Given the description of an element on the screen output the (x, y) to click on. 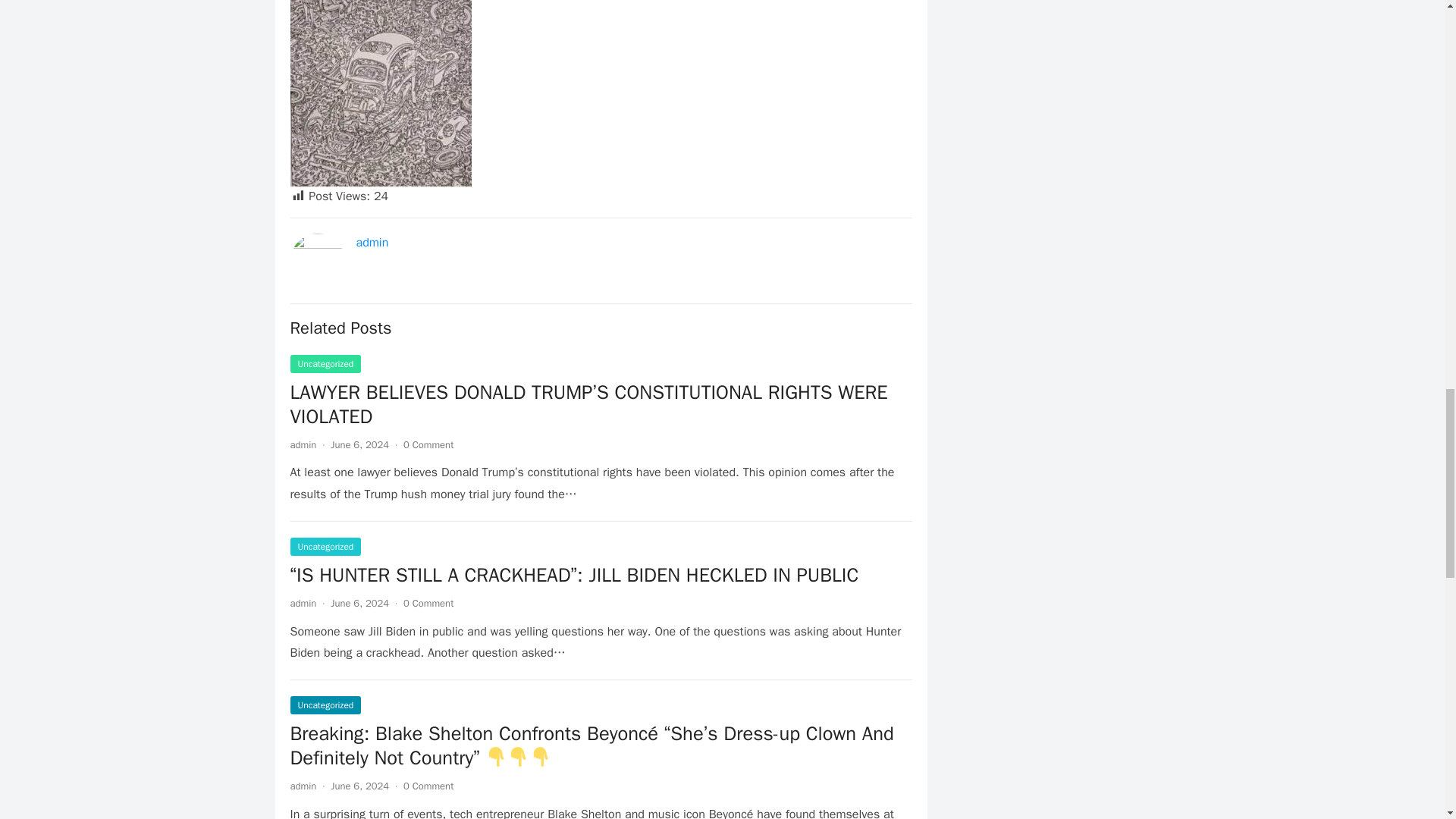
Uncategorized (325, 546)
Uncategorized (325, 363)
Posts by admin (302, 444)
0 Comment (427, 785)
Posts by admin (302, 603)
Uncategorized (325, 705)
admin (302, 444)
0 Comment (427, 603)
Posts by admin (302, 785)
admin (372, 242)
